Given the description of an element on the screen output the (x, y) to click on. 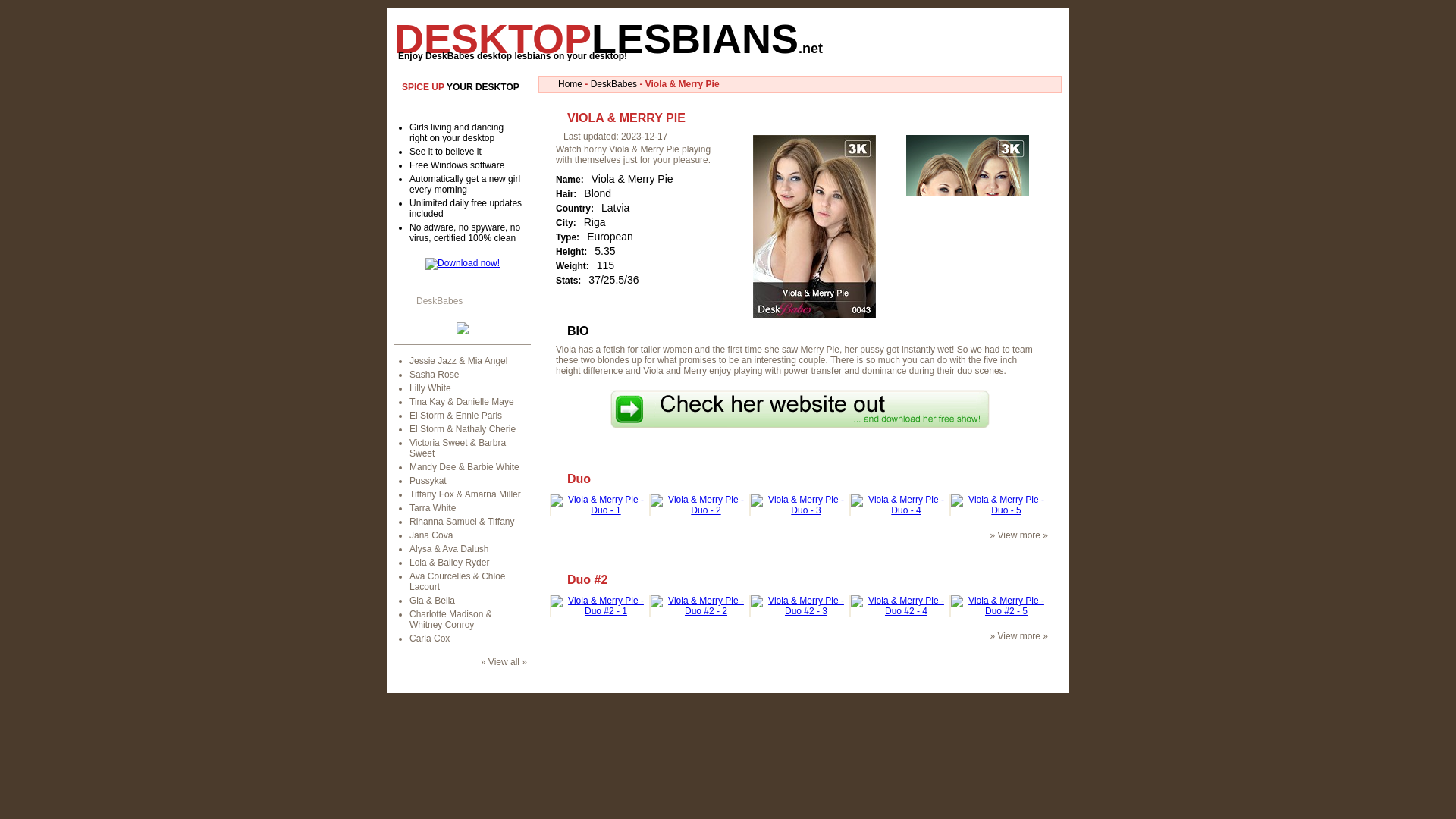
DeskBabes (614, 83)
DESKTOPLESBIANS.net (608, 38)
Home (569, 83)
Tarra White (432, 507)
Jana Cova (430, 534)
Lilly White (430, 388)
Sasha Rose (433, 374)
Duo (579, 478)
Pussykat (427, 480)
